Given the description of an element on the screen output the (x, y) to click on. 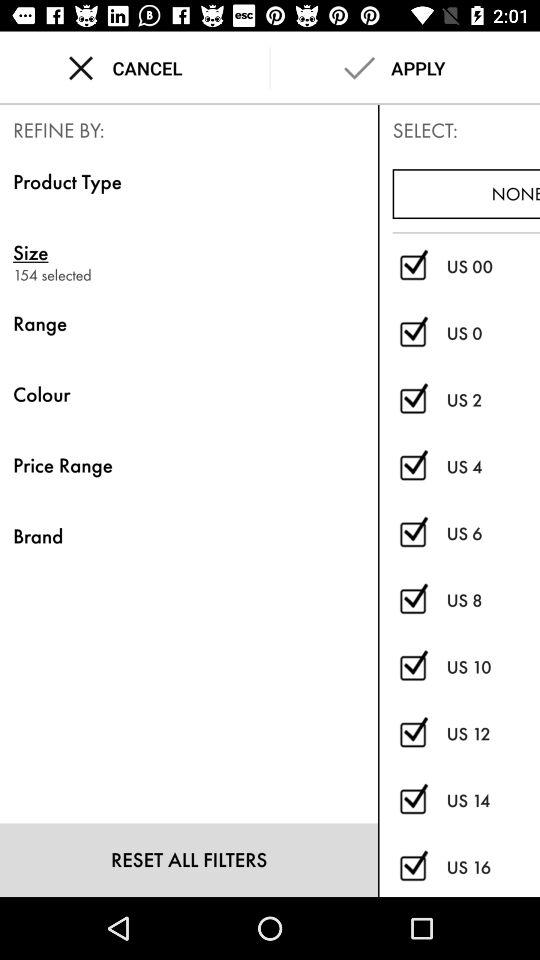
press the us 00 item (493, 266)
